Given the description of an element on the screen output the (x, y) to click on. 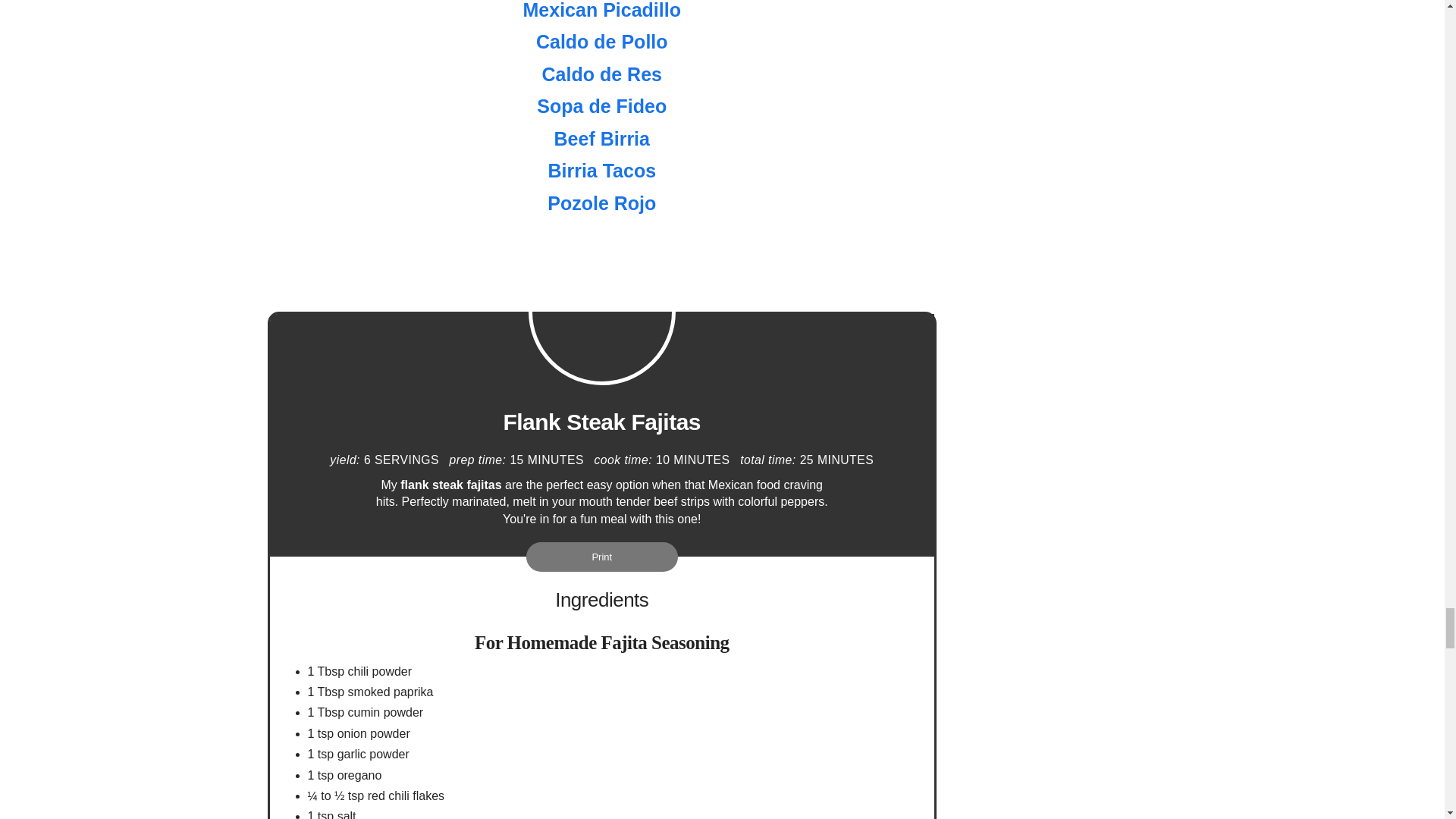
Caldo de Res (601, 74)
Sopa de Fideo (601, 106)
Birria Tacos (601, 169)
Print (601, 556)
Pozole Rojo (601, 202)
Beef Birria (601, 138)
Caldo de Pollo (601, 41)
Mexican Picadillo (601, 10)
